Given the description of an element on the screen output the (x, y) to click on. 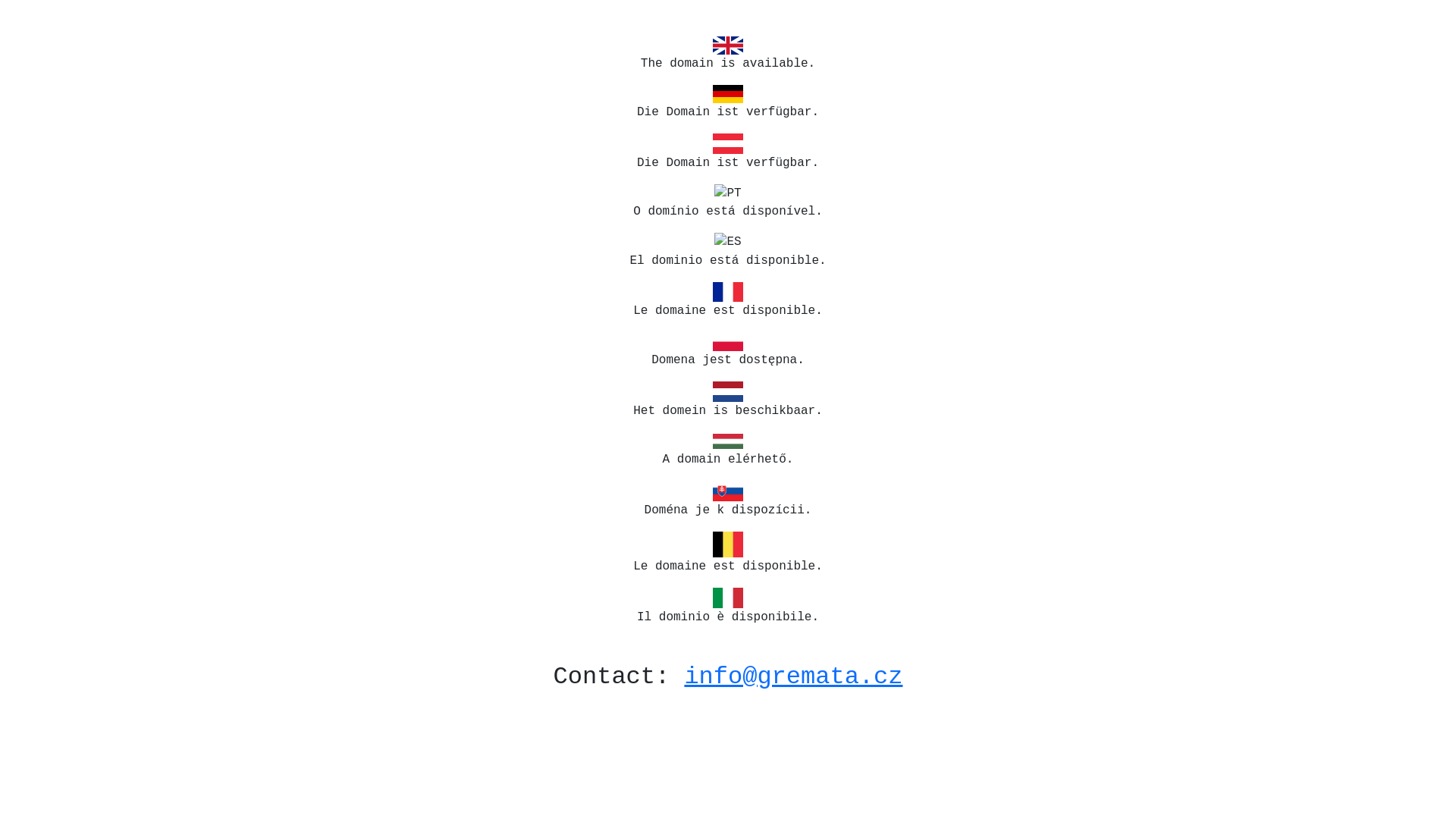
info@gremata.cz Element type: text (793, 676)
